Given the description of an element on the screen output the (x, y) to click on. 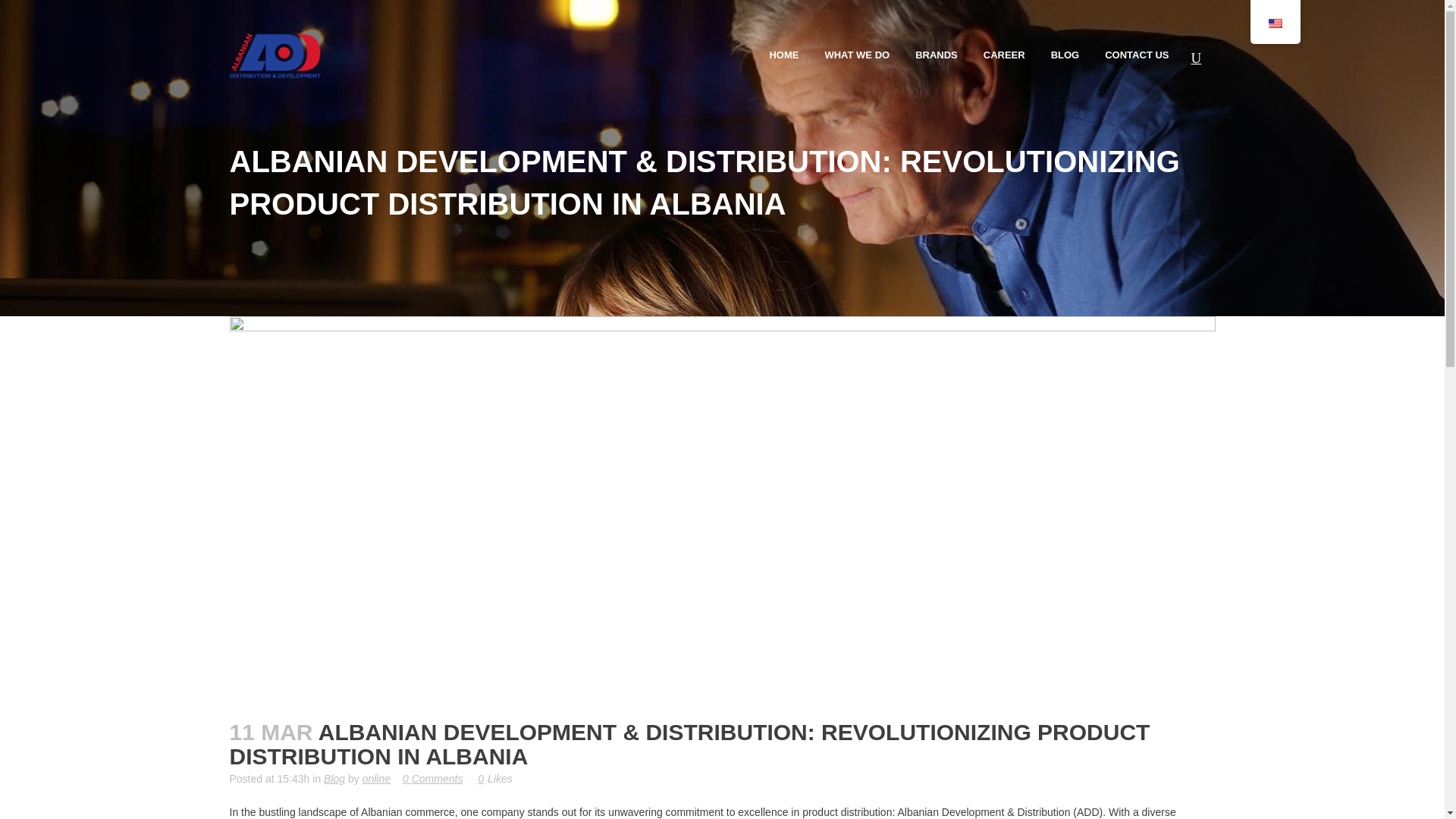
English (1274, 22)
Like this (494, 778)
